Given the description of an element on the screen output the (x, y) to click on. 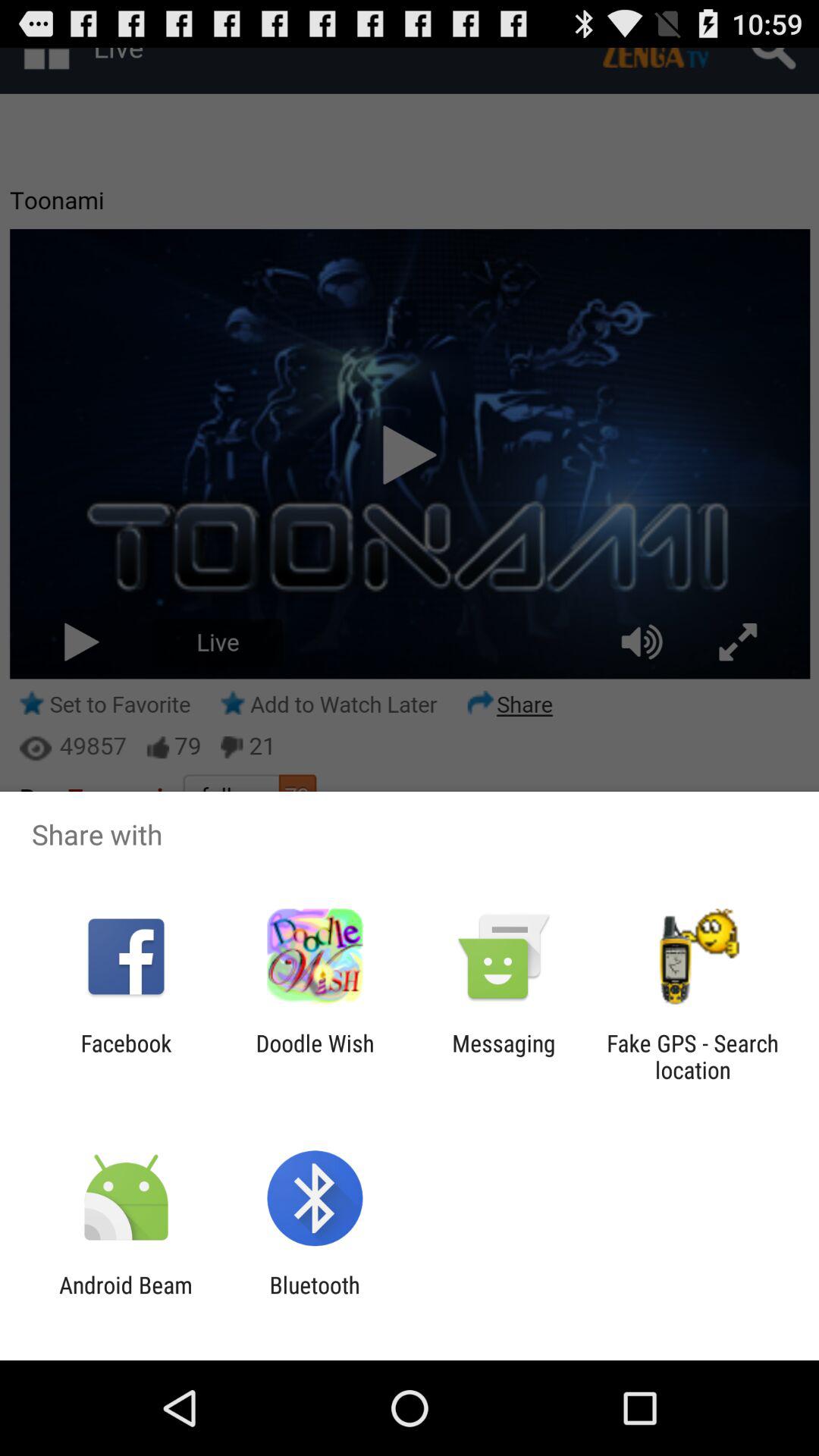
open app to the left of bluetooth item (125, 1298)
